Given the description of an element on the screen output the (x, y) to click on. 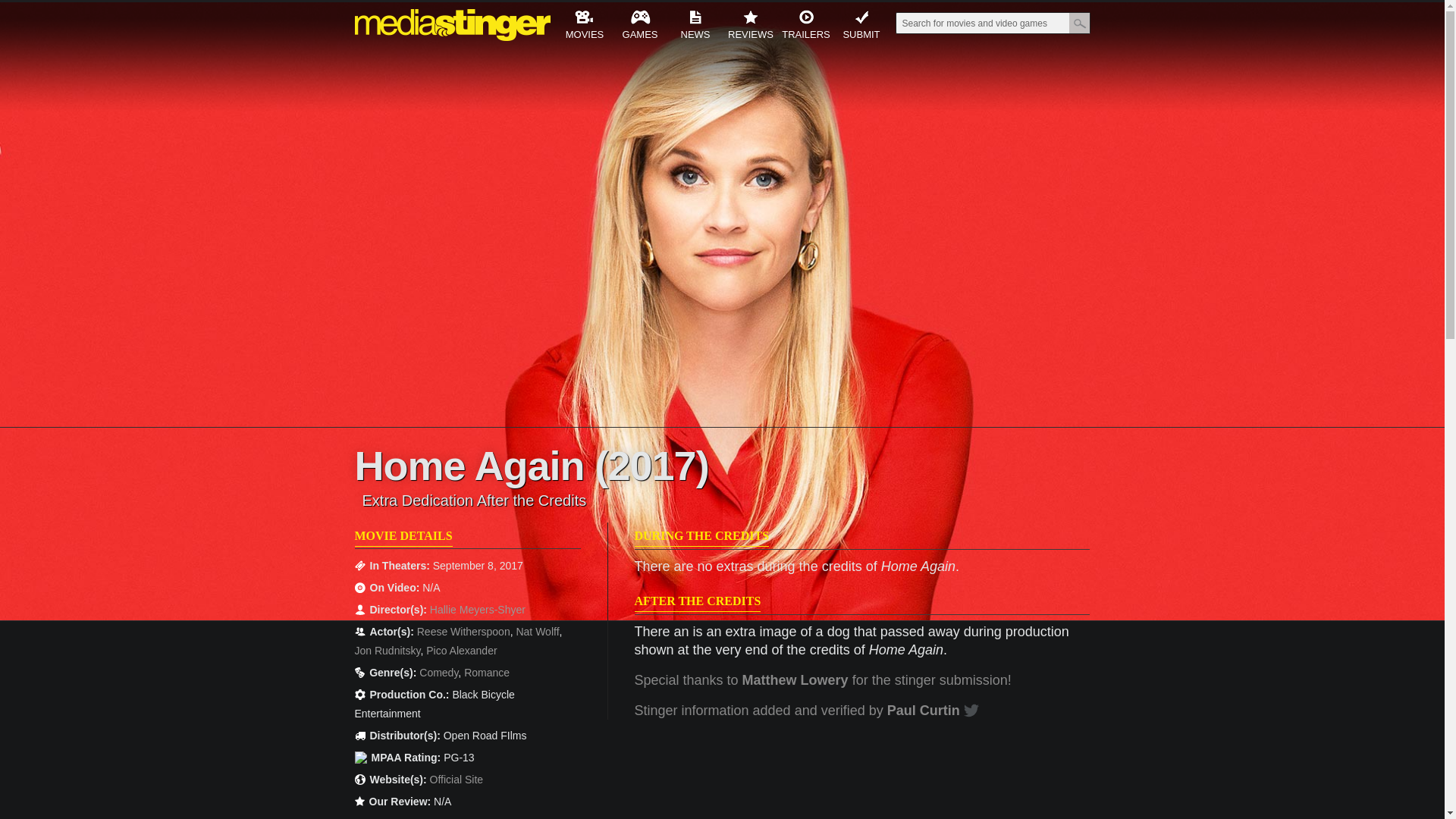
MOVIES (583, 26)
Search for movies and video games (981, 23)
